Given the description of an element on the screen output the (x, y) to click on. 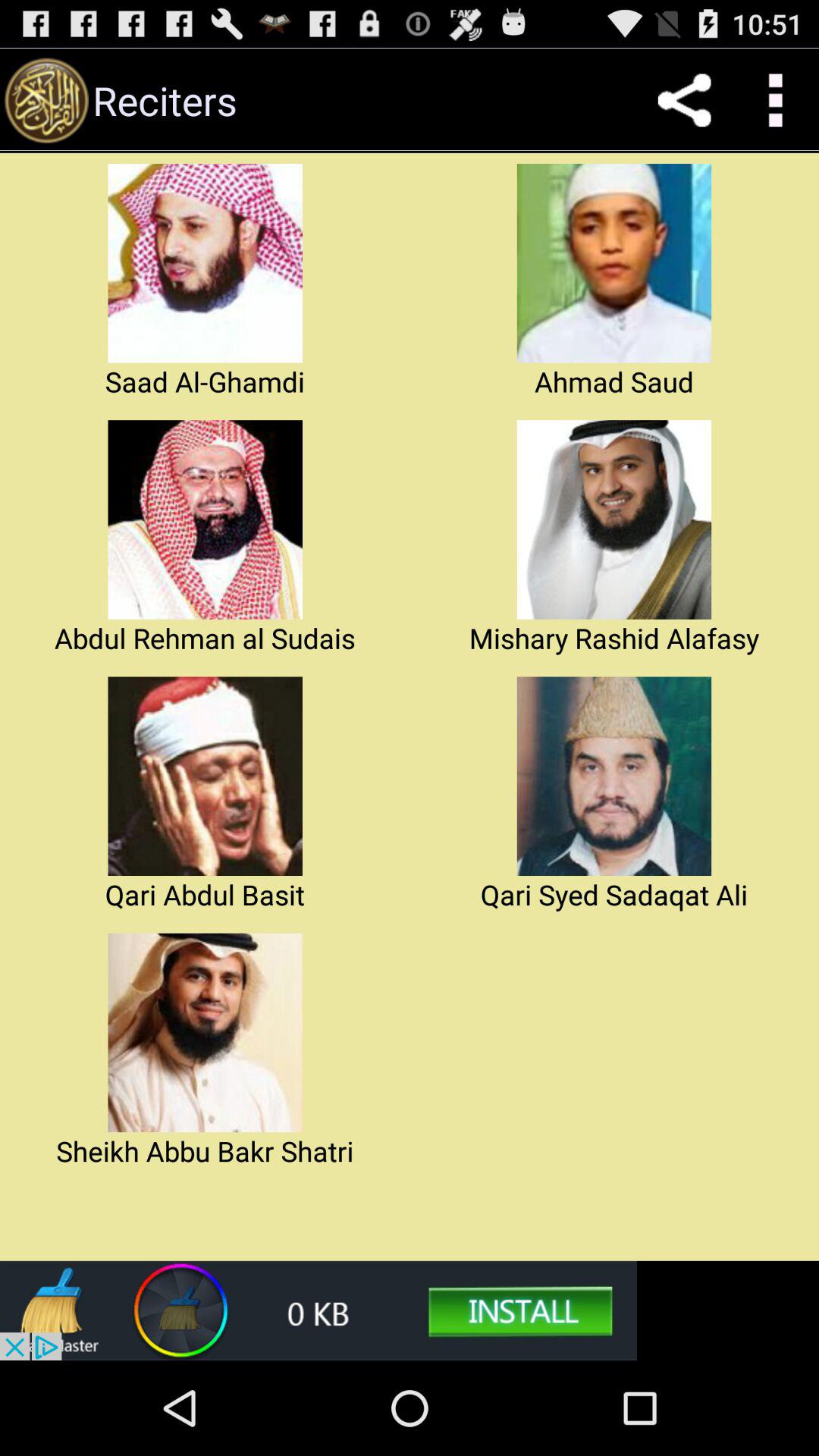
for setting (774, 100)
